Given the description of an element on the screen output the (x, y) to click on. 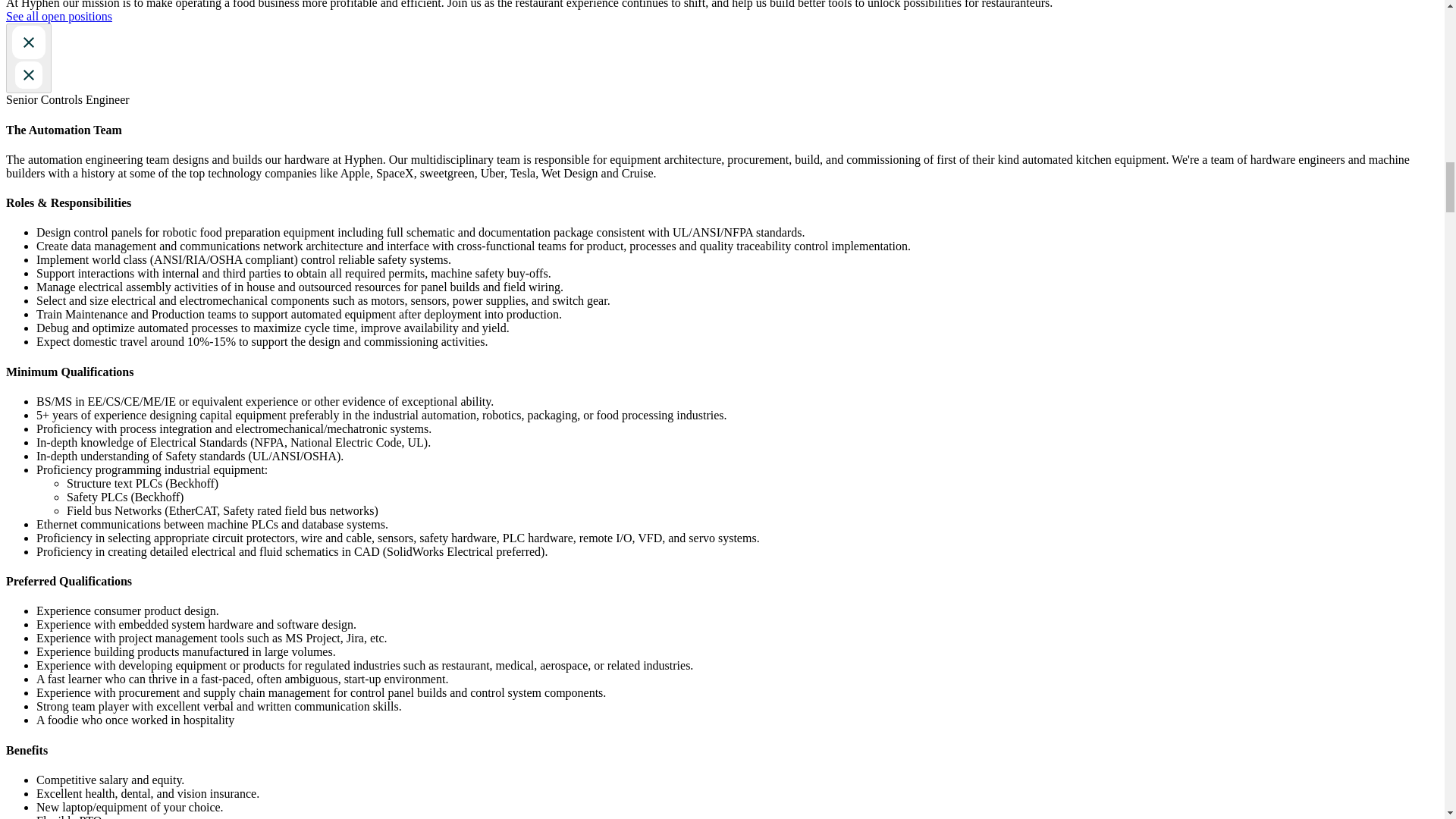
See all open positions (58, 15)
